Given the description of an element on the screen output the (x, y) to click on. 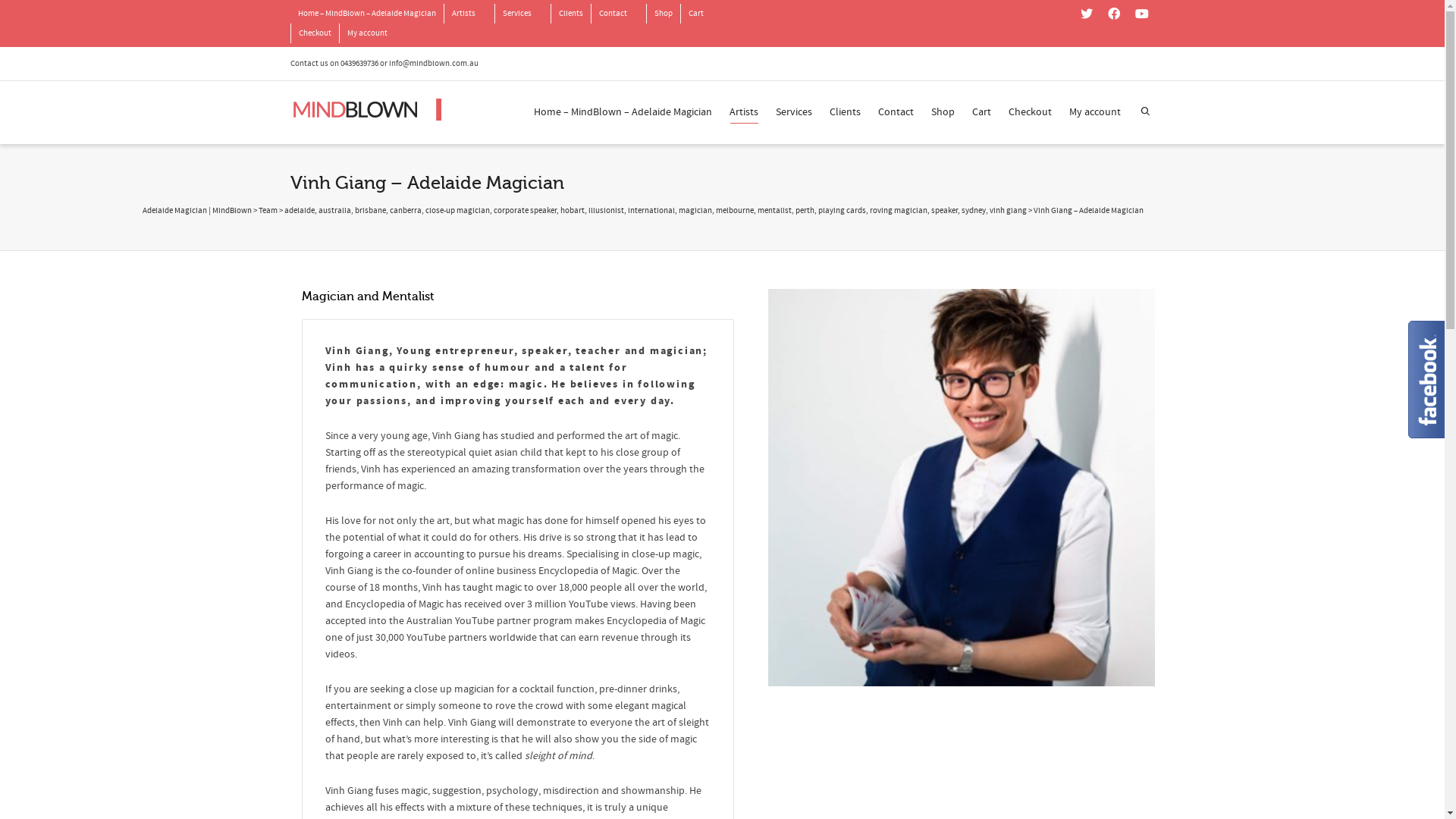
Clients Element type: text (569, 13)
Services Element type: text (516, 13)
Checkout Element type: text (1029, 112)
perth Element type: text (803, 210)
hobart Element type: text (571, 210)
Cart Element type: text (981, 112)
vinh giang Element type: text (1007, 210)
mentalist Element type: text (773, 210)
Shop Element type: text (942, 112)
Clients Element type: text (844, 112)
Services Element type: text (793, 112)
Artists Element type: text (463, 13)
Contact Element type: text (612, 13)
canberra Element type: text (405, 210)
close-up magician Element type: text (456, 210)
illusionist Element type: text (606, 210)
Adelaide Magician | MindBlown Element type: text (196, 210)
corporate speaker Element type: text (523, 210)
playing cards Element type: text (841, 210)
My account Element type: text (1094, 112)
Checkout Element type: text (314, 33)
Team Element type: text (266, 210)
roving magician Element type: text (897, 210)
international Element type: text (650, 210)
My account Element type: text (367, 33)
Cart Element type: text (695, 13)
melbourne Element type: text (734, 210)
Shop Element type: text (662, 13)
Contact Element type: text (895, 112)
Artists Element type: text (743, 112)
australia Element type: text (334, 210)
adelaide Element type: text (298, 210)
brisbane Element type: text (369, 210)
sydney Element type: text (973, 210)
speaker Element type: text (944, 210)
magician Element type: text (694, 210)
